Given the description of an element on the screen output the (x, y) to click on. 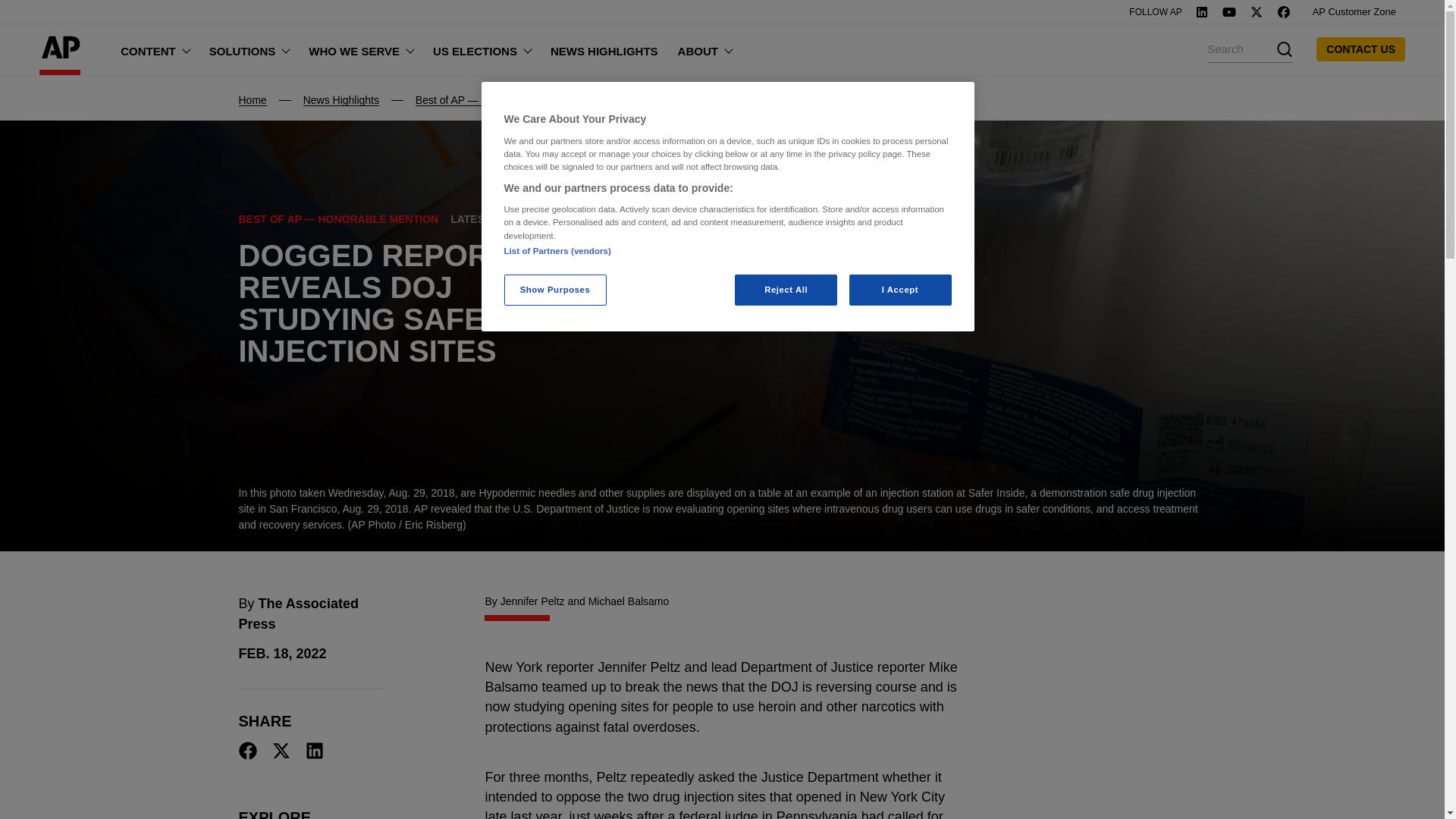
Share on LinkedIn (313, 751)
SOLUTIONS (249, 49)
Share on Twitter (279, 751)
Share on Facebook (247, 751)
Youtube (1228, 11)
Linkedin (1201, 11)
Twitter (1256, 11)
AP Customer Zone (1354, 11)
Facebook (1283, 11)
CONTENT (154, 49)
